Given the description of an element on the screen output the (x, y) to click on. 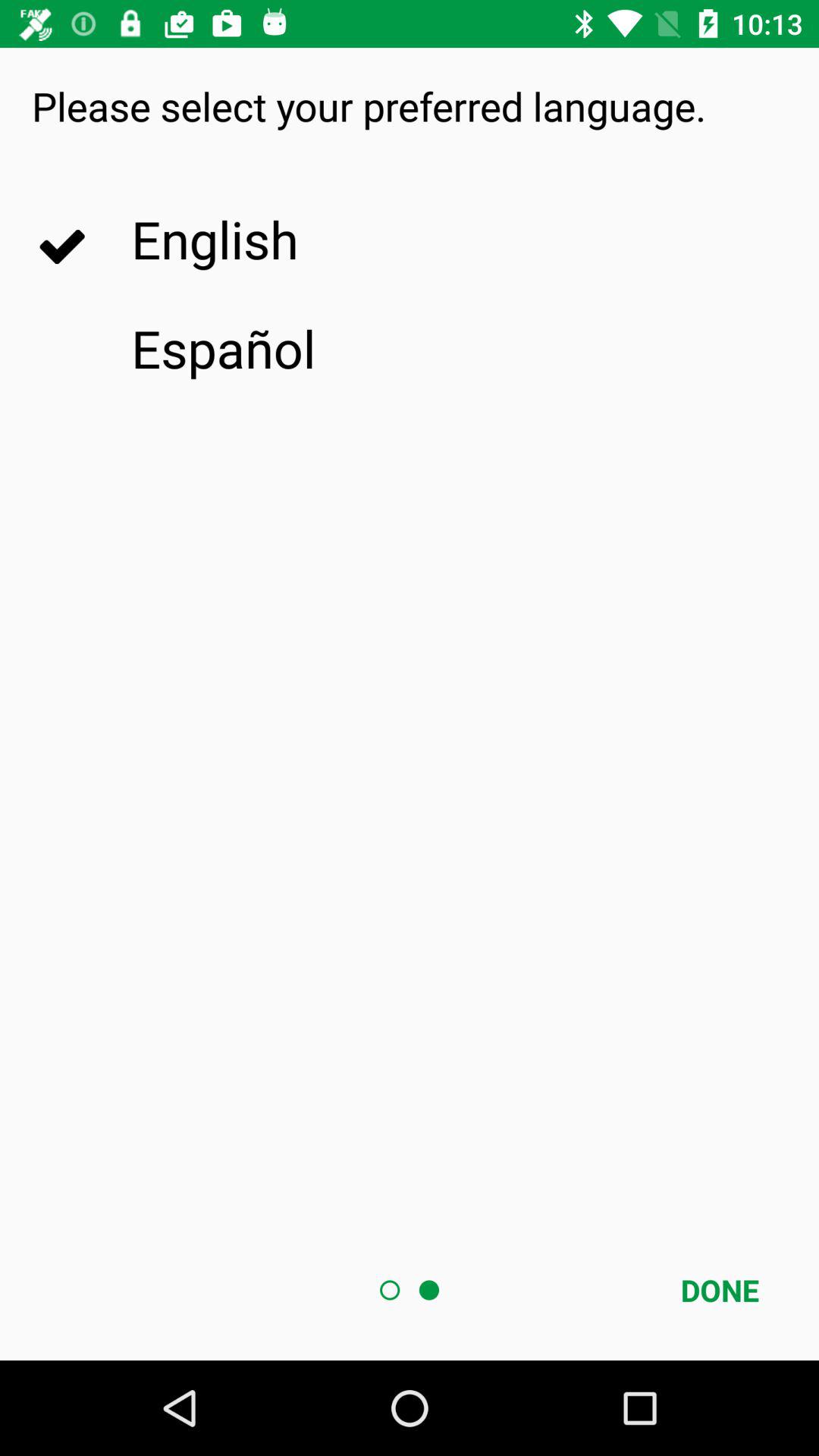
click the done item (720, 1290)
